Given the description of an element on the screen output the (x, y) to click on. 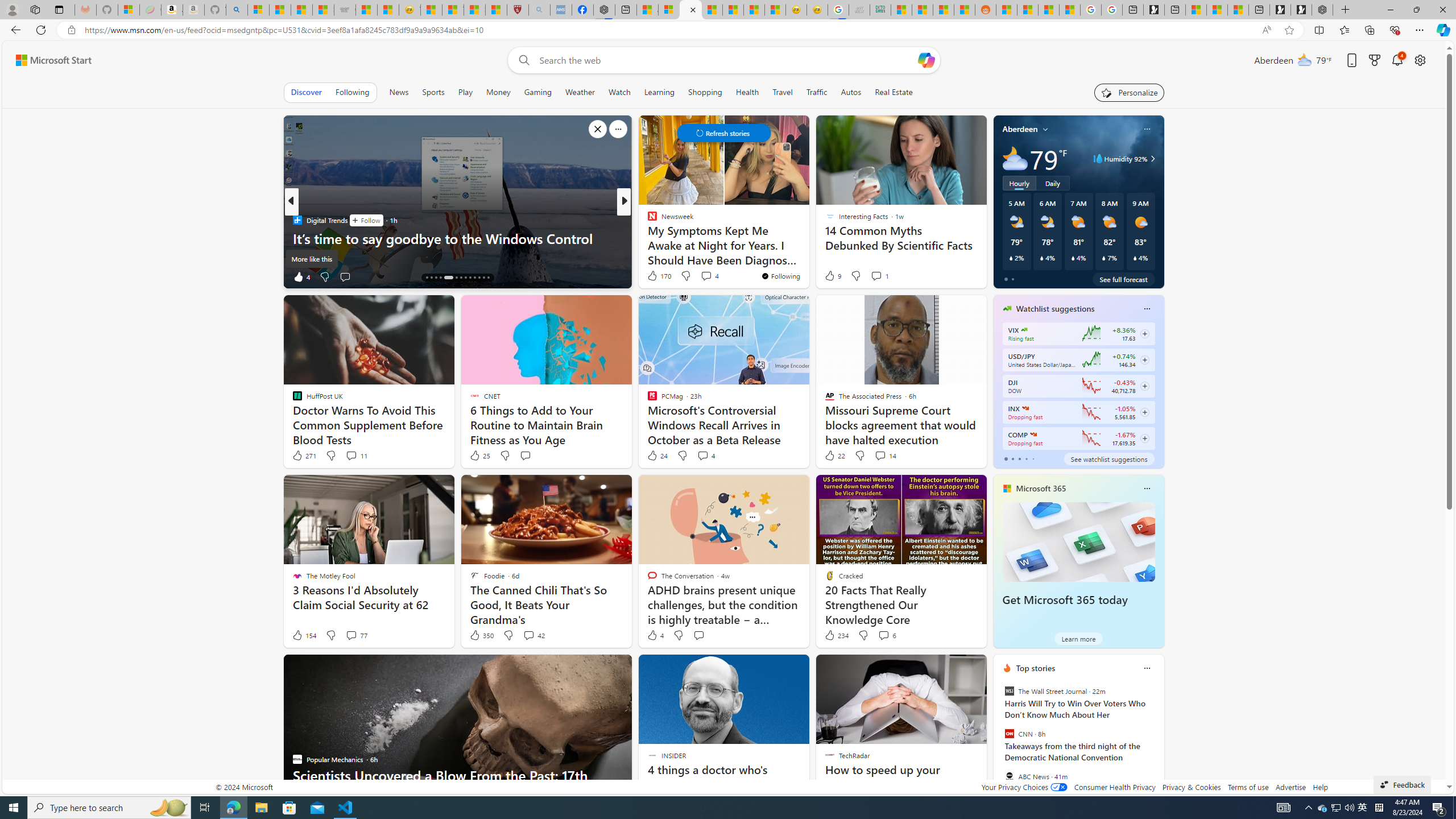
NASDAQ (1032, 434)
AutomationID: tab-24 (478, 277)
271 Like (303, 455)
AutomationID: tab-16 (435, 277)
CBOE Market Volatility Index (1023, 329)
ABC News (1008, 775)
tab-4 (1032, 458)
